Given the description of an element on the screen output the (x, y) to click on. 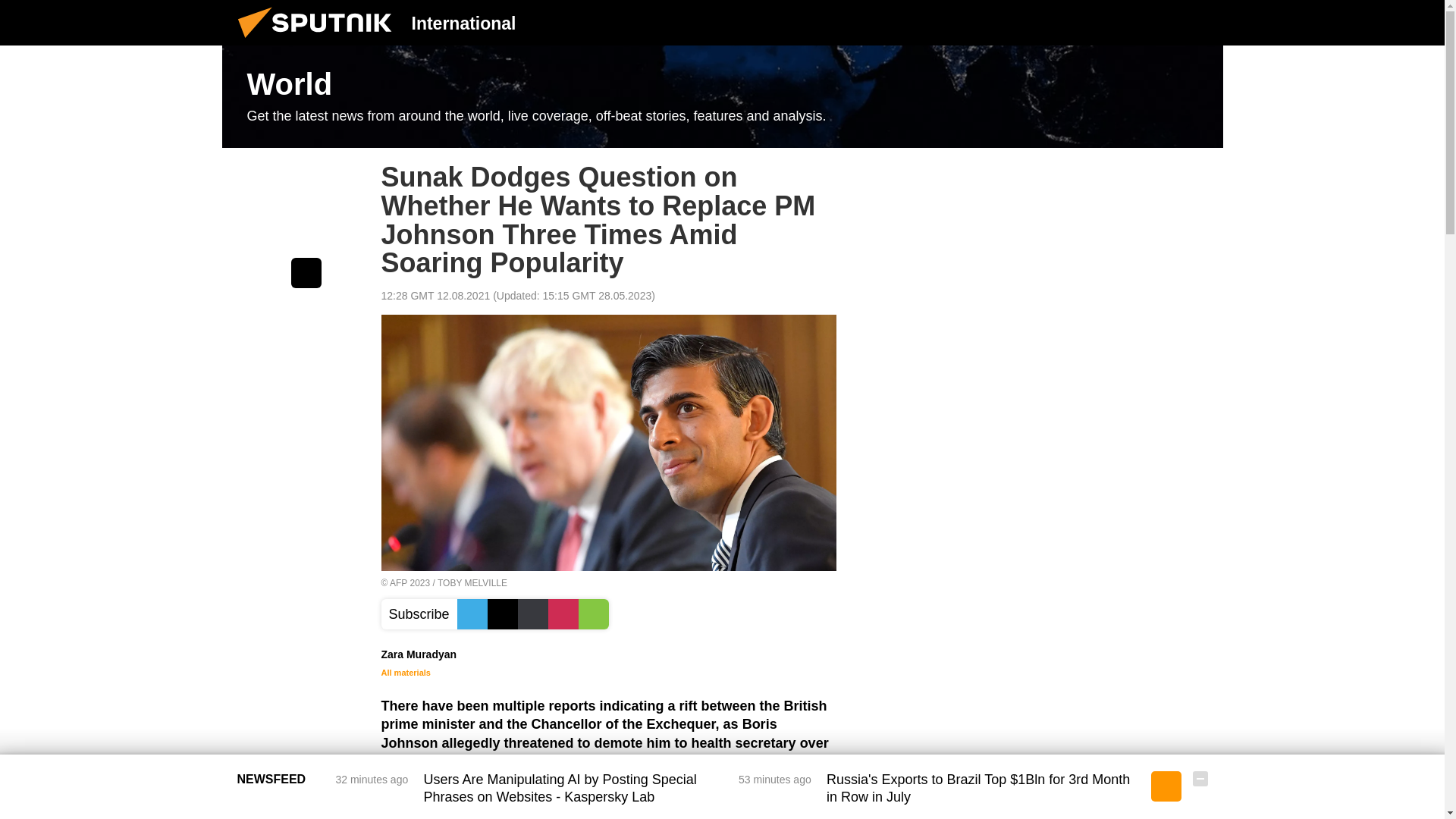
Sputnik International (319, 41)
Chats (1199, 22)
Authorization (1123, 22)
World (722, 96)
